Given the description of an element on the screen output the (x, y) to click on. 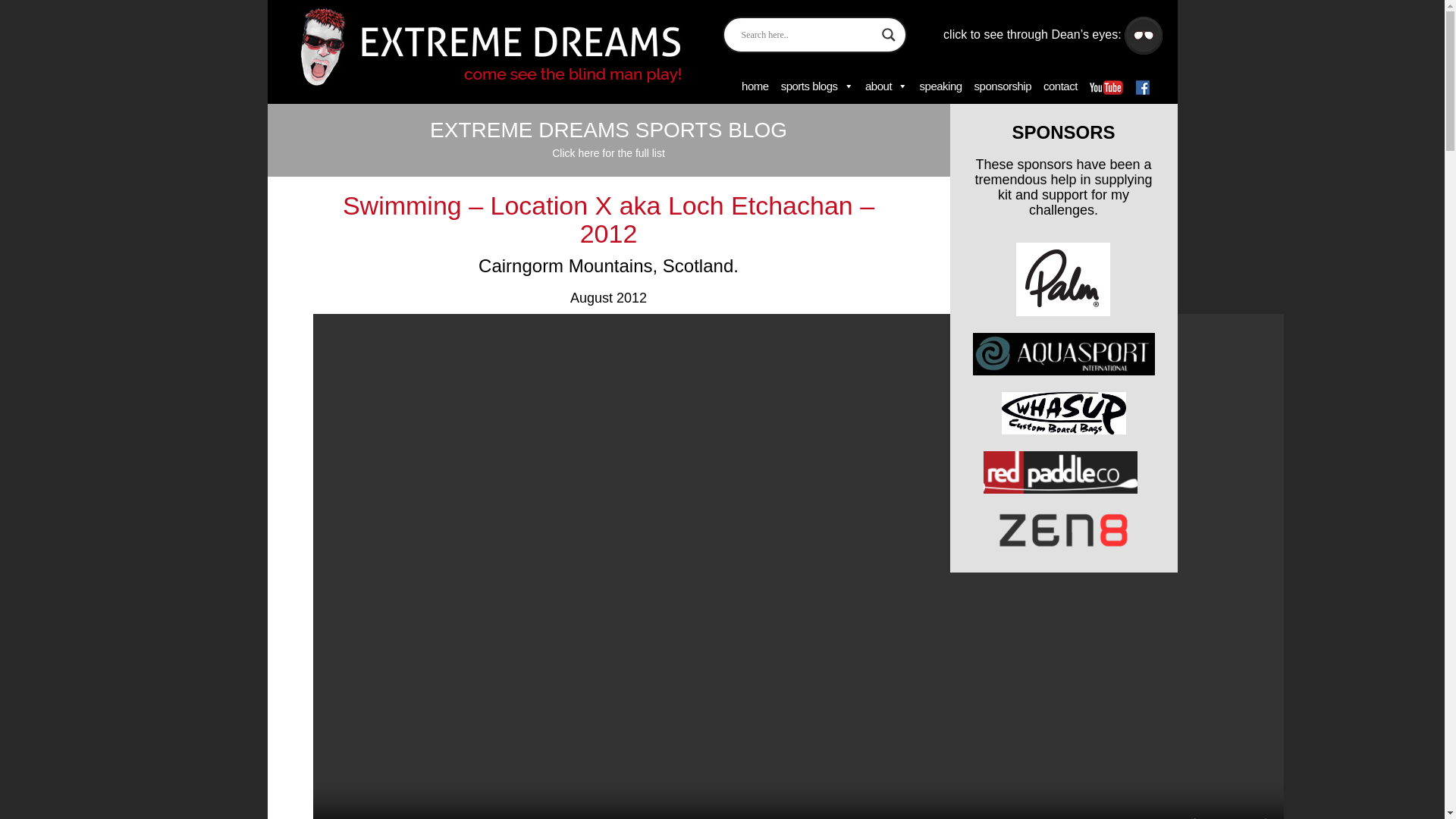
home (753, 86)
about (884, 86)
sports blogs (815, 86)
speaking (939, 86)
sponsorship (1000, 86)
contact (1058, 86)
Click here for the full list (608, 152)
